Given the description of an element on the screen output the (x, y) to click on. 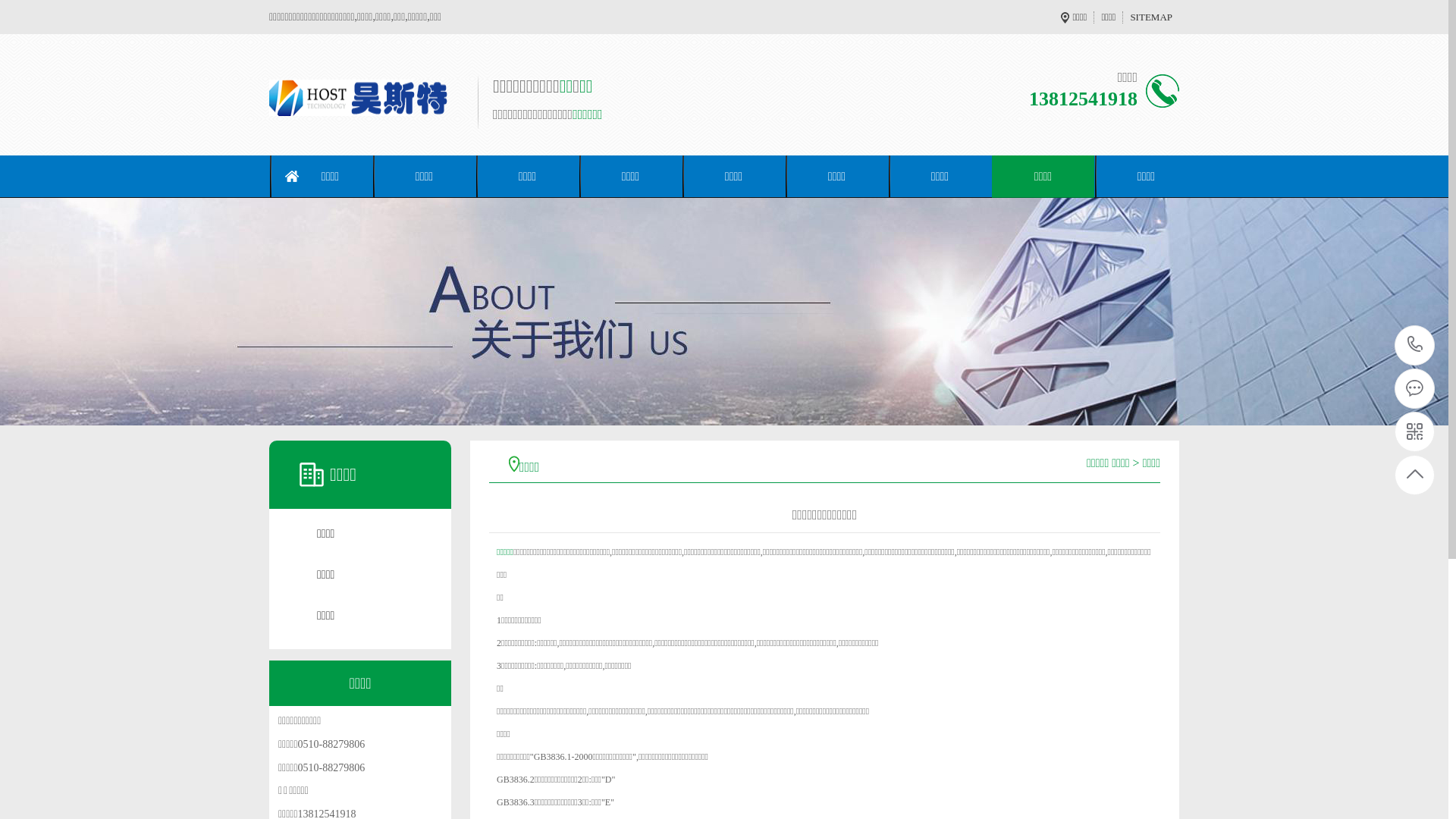
13812541918 Element type: text (1415, 345)
SITEMAP Element type: text (1150, 16)
